Given the description of an element on the screen output the (x, y) to click on. 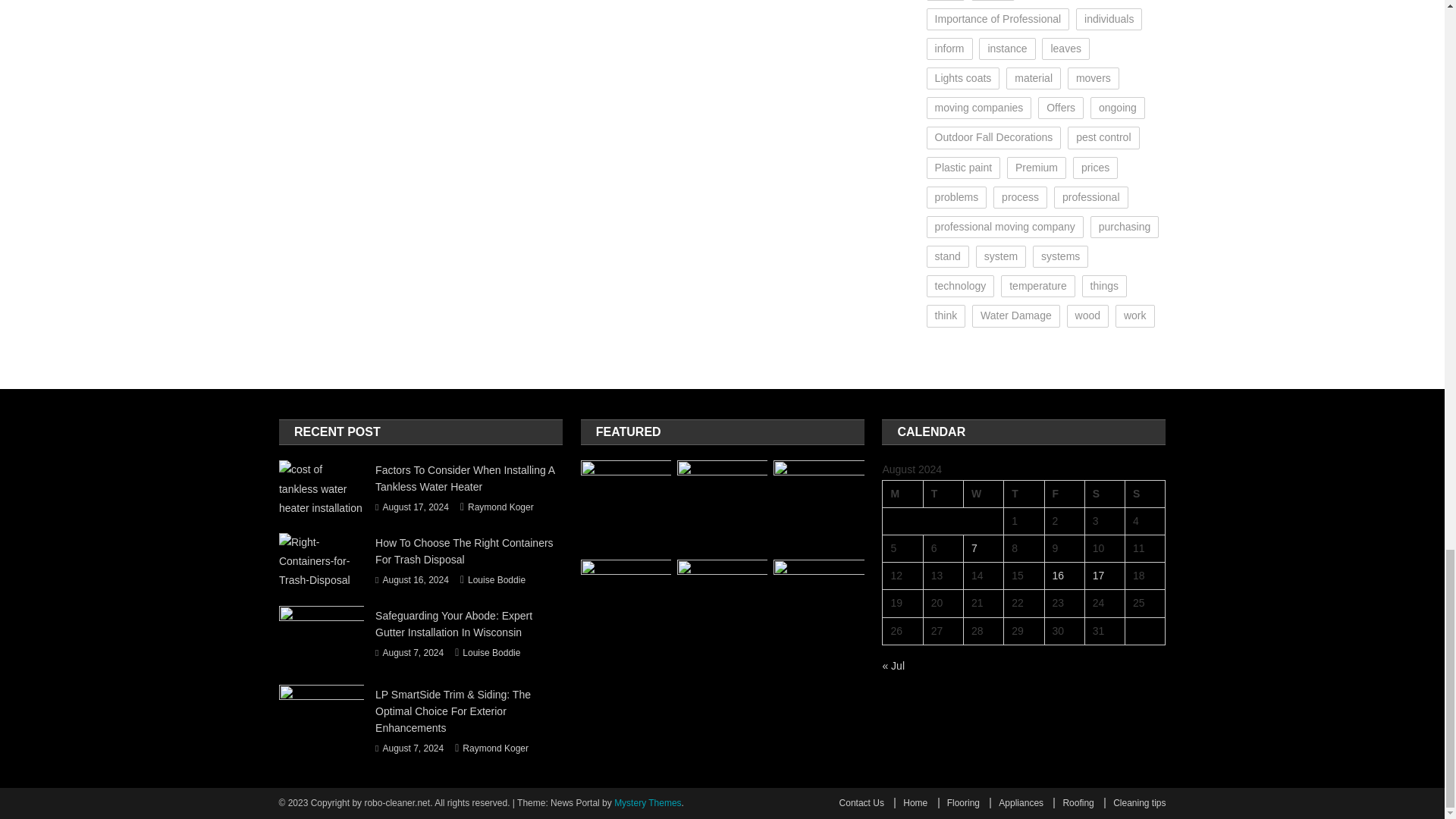
Monday (902, 492)
Friday (1063, 492)
Sunday (1145, 492)
Tuesday (942, 492)
Wednesday (982, 492)
Thursday (1023, 492)
Saturday (1104, 492)
